Given the description of an element on the screen output the (x, y) to click on. 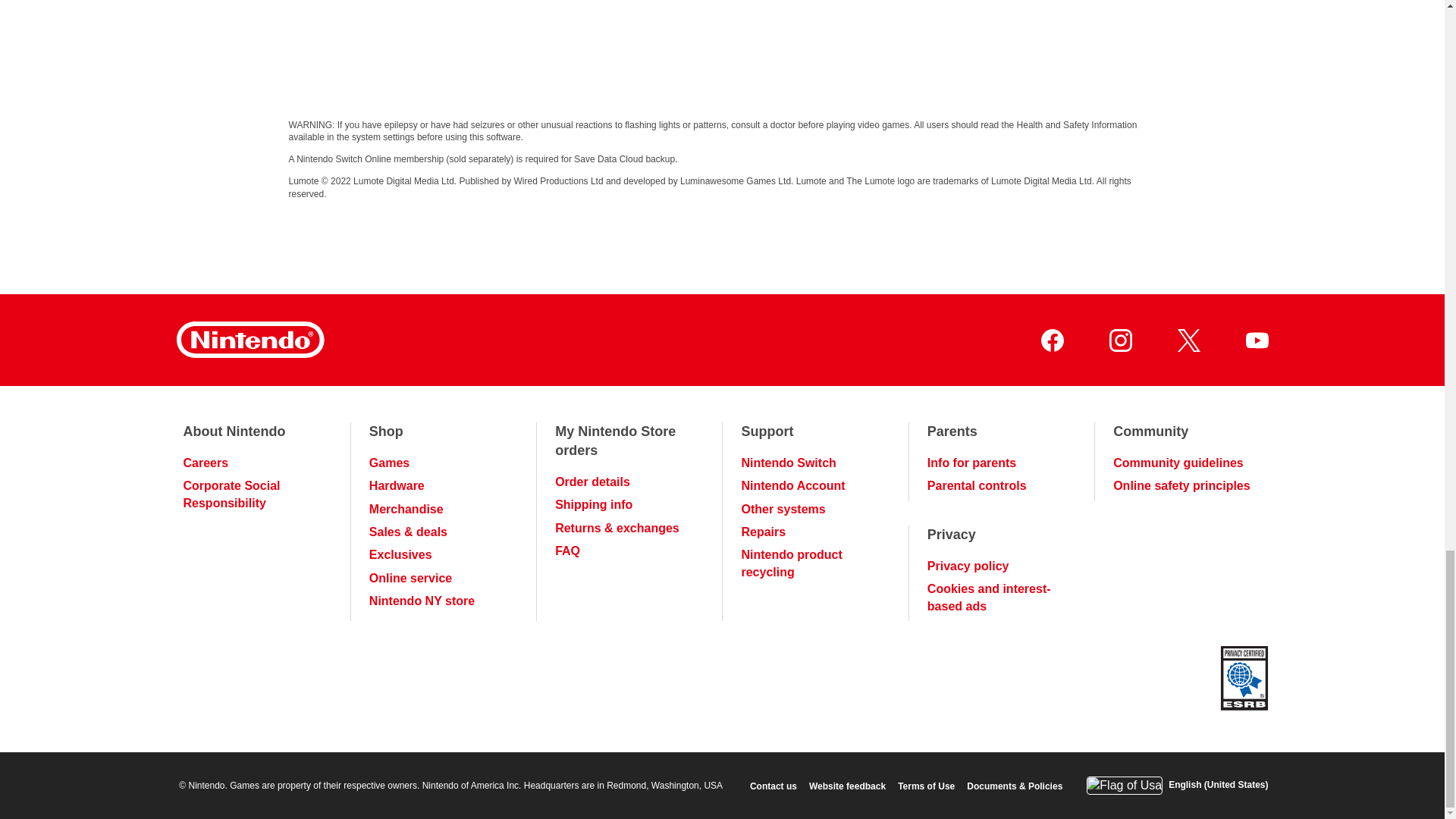
Nintendo on Twitter (1187, 340)
Nintendo on YouTube (1256, 340)
Nintendo on Facebook (1051, 340)
Nintendo on Instagram (1119, 340)
Nintendo Homepage (249, 339)
